Given the description of an element on the screen output the (x, y) to click on. 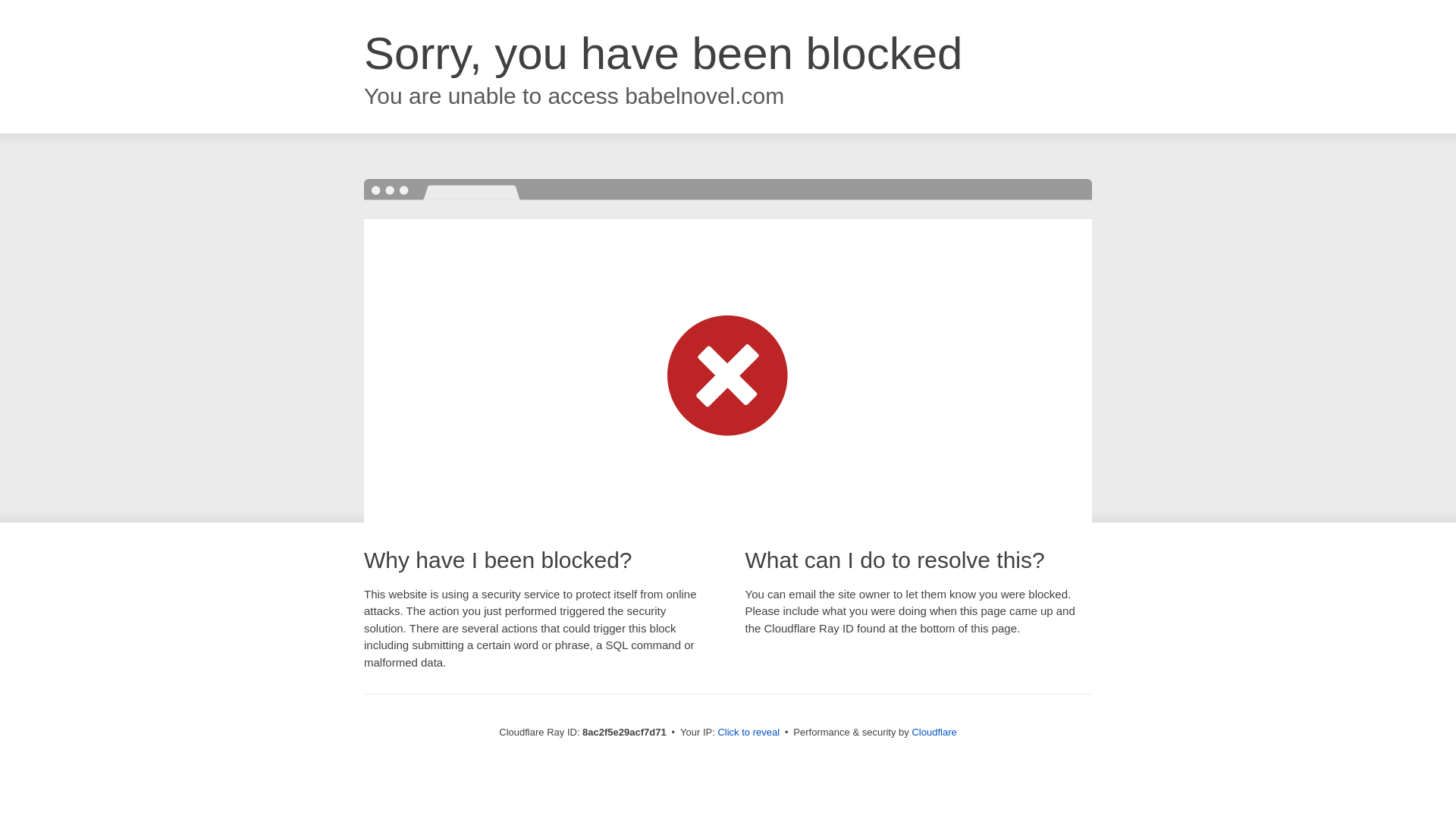
Click to reveal (747, 732)
Cloudflare (933, 731)
